Given the description of an element on the screen output the (x, y) to click on. 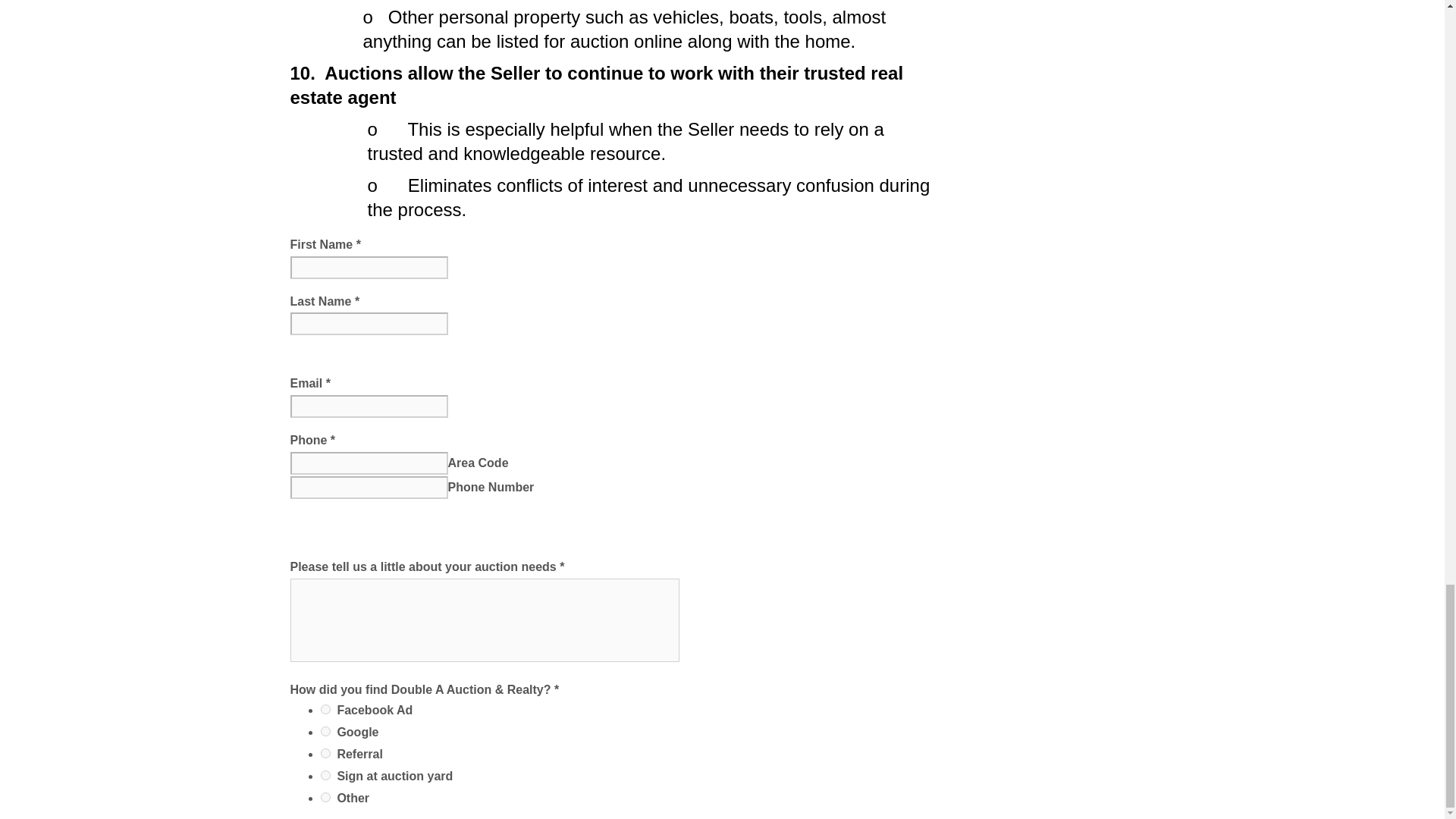
Facebook Ad (325, 709)
Sign at auction yard (325, 775)
Google (325, 731)
Other (325, 797)
Referral (325, 753)
